Given the description of an element on the screen output the (x, y) to click on. 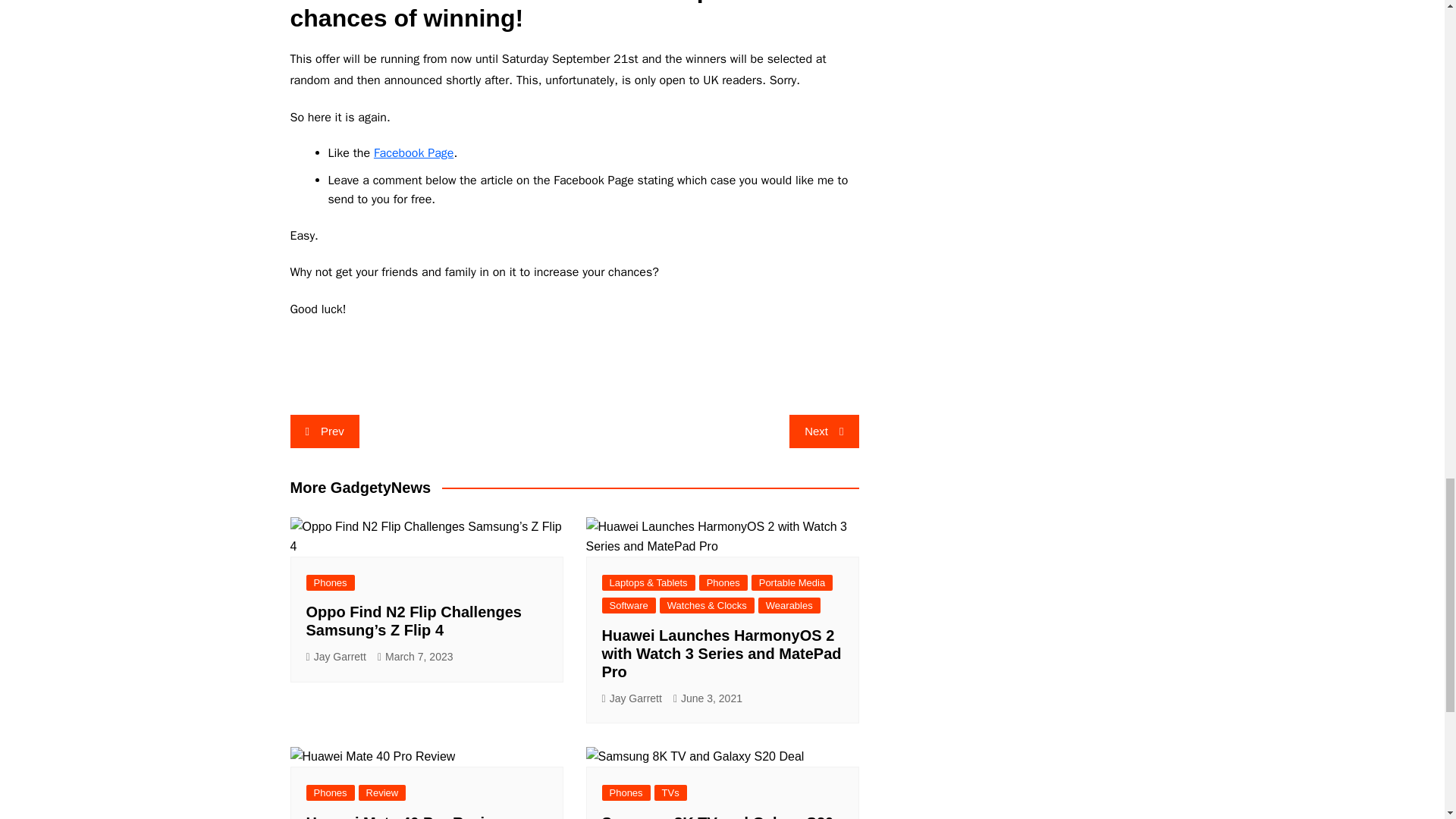
Prev (323, 430)
Next (824, 430)
Jay Garrett (335, 656)
Facebook Page (413, 152)
Phones (330, 582)
